Given the description of an element on the screen output the (x, y) to click on. 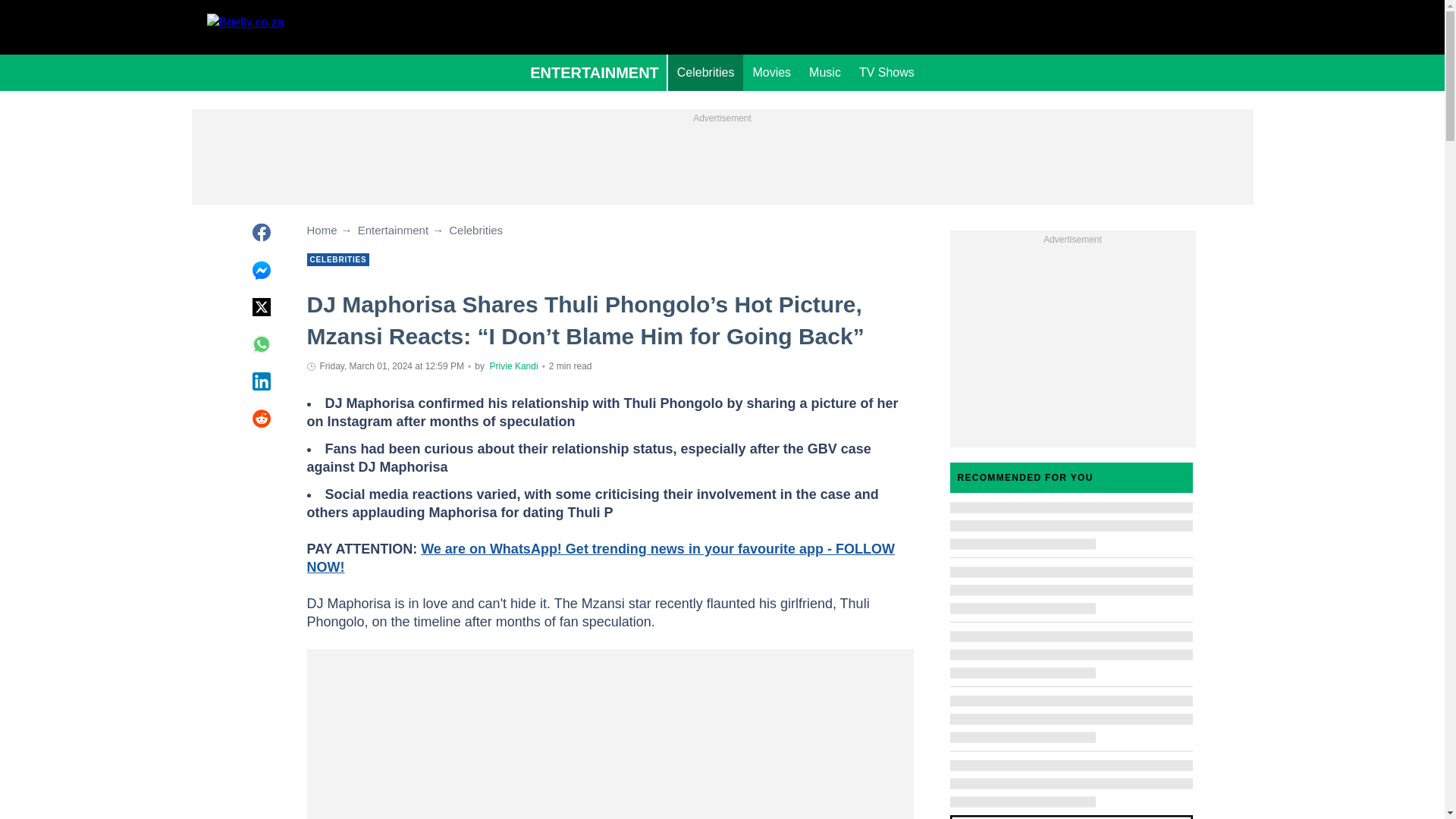
TV Shows (886, 72)
ENTERTAINMENT (594, 72)
Author page (513, 366)
Movies (770, 72)
Celebrities (706, 72)
Briefly News WhatsApp (599, 557)
Music (824, 72)
